Given the description of an element on the screen output the (x, y) to click on. 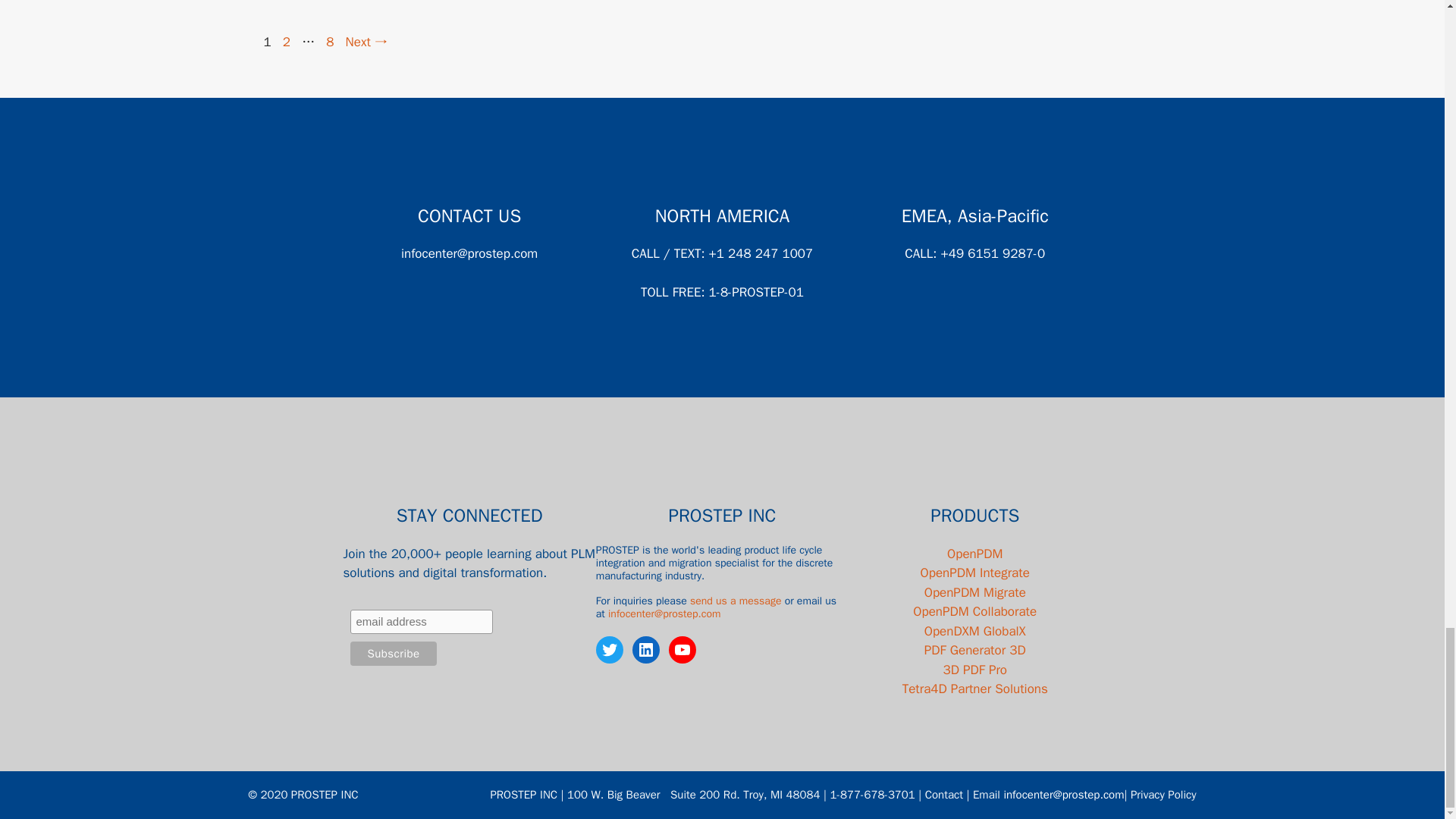
Subscribe (392, 653)
